Given the description of an element on the screen output the (x, y) to click on. 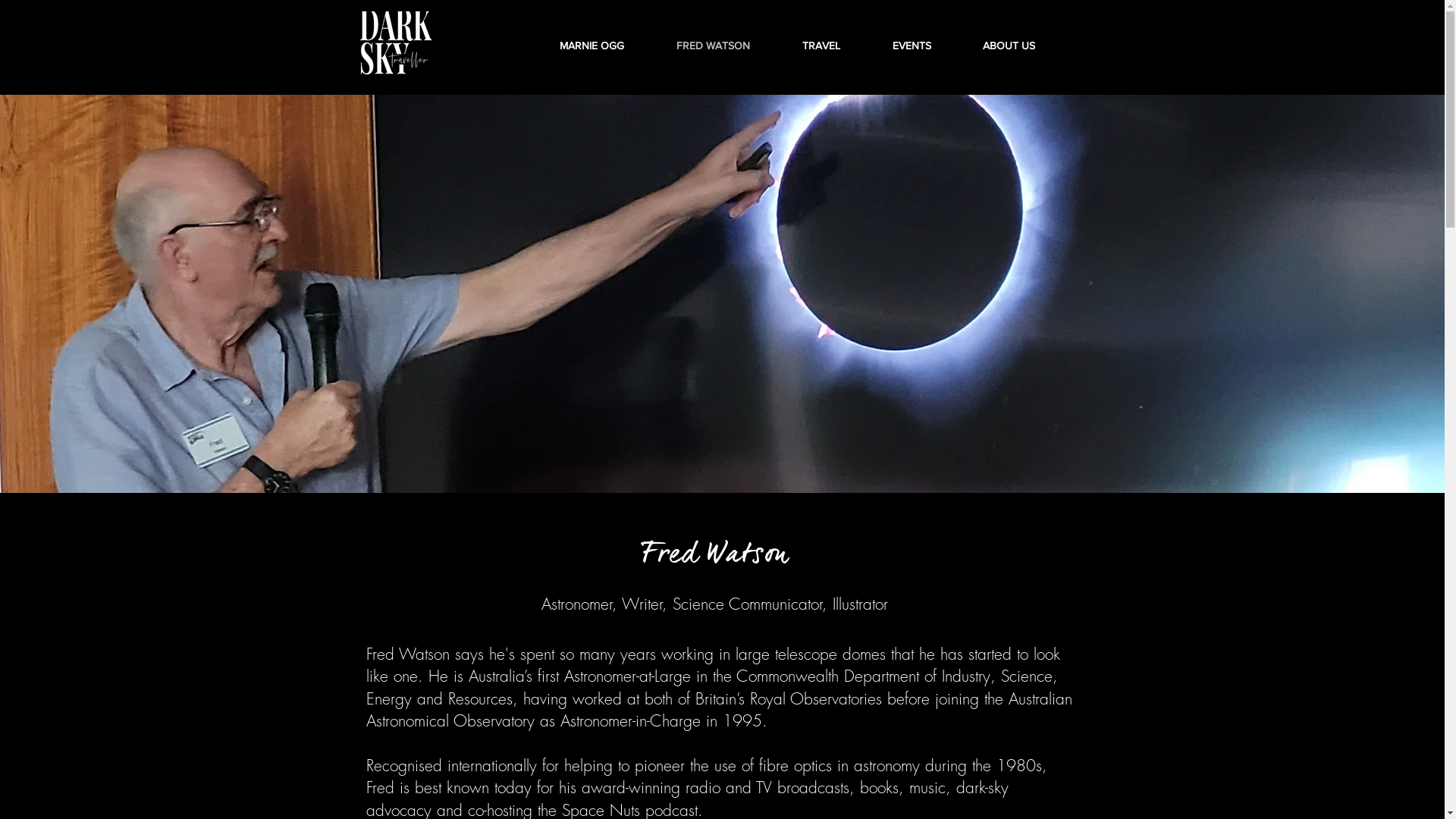
EVENTS Element type: text (926, 45)
ABOUT US Element type: text (1022, 45)
TRAVEL Element type: text (835, 45)
FRED WATSON Element type: text (727, 45)
MARNIE OGG Element type: text (605, 45)
